Given the description of an element on the screen output the (x, y) to click on. 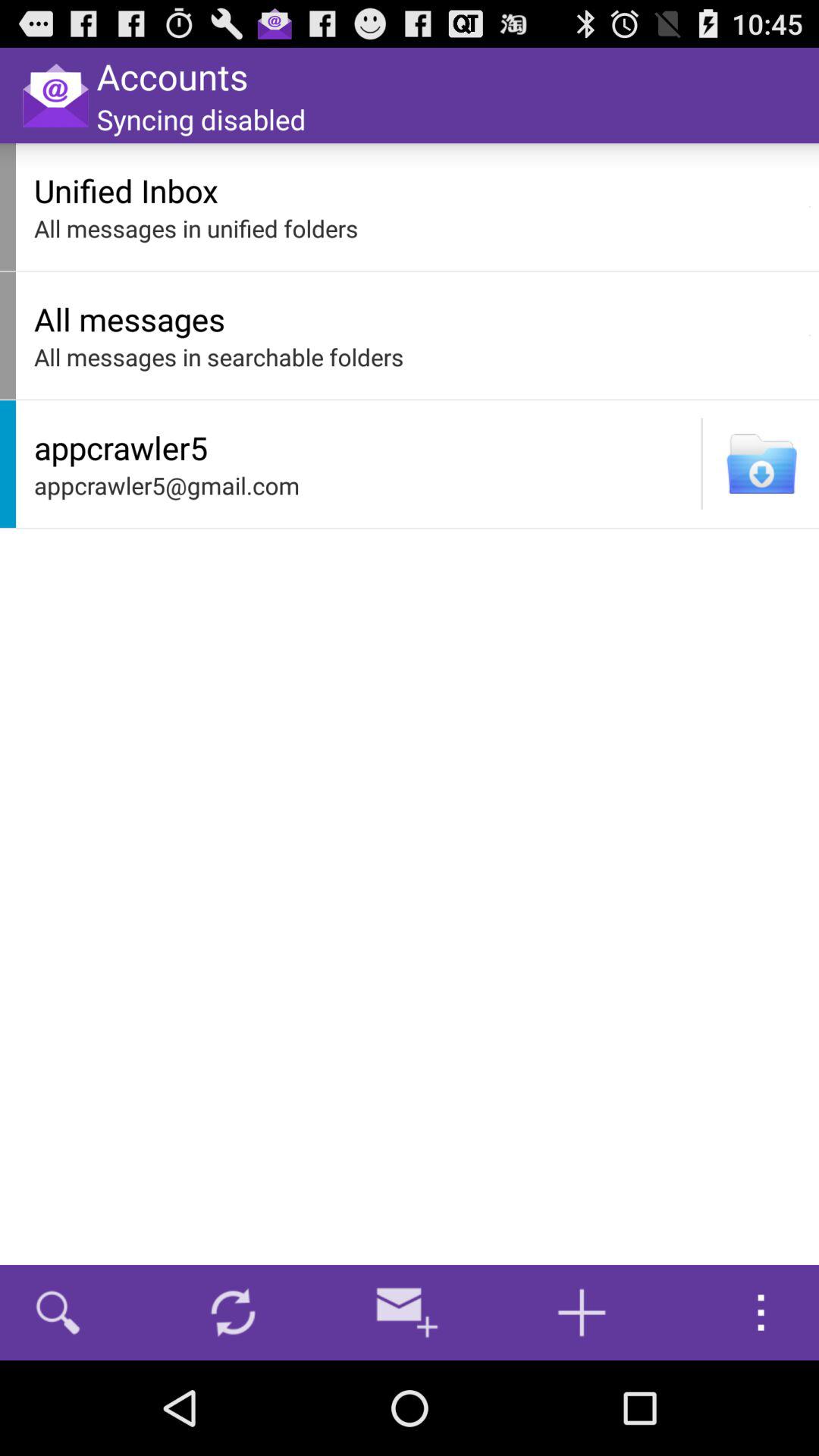
turn on item above all messages in (417, 190)
